Given the description of an element on the screen output the (x, y) to click on. 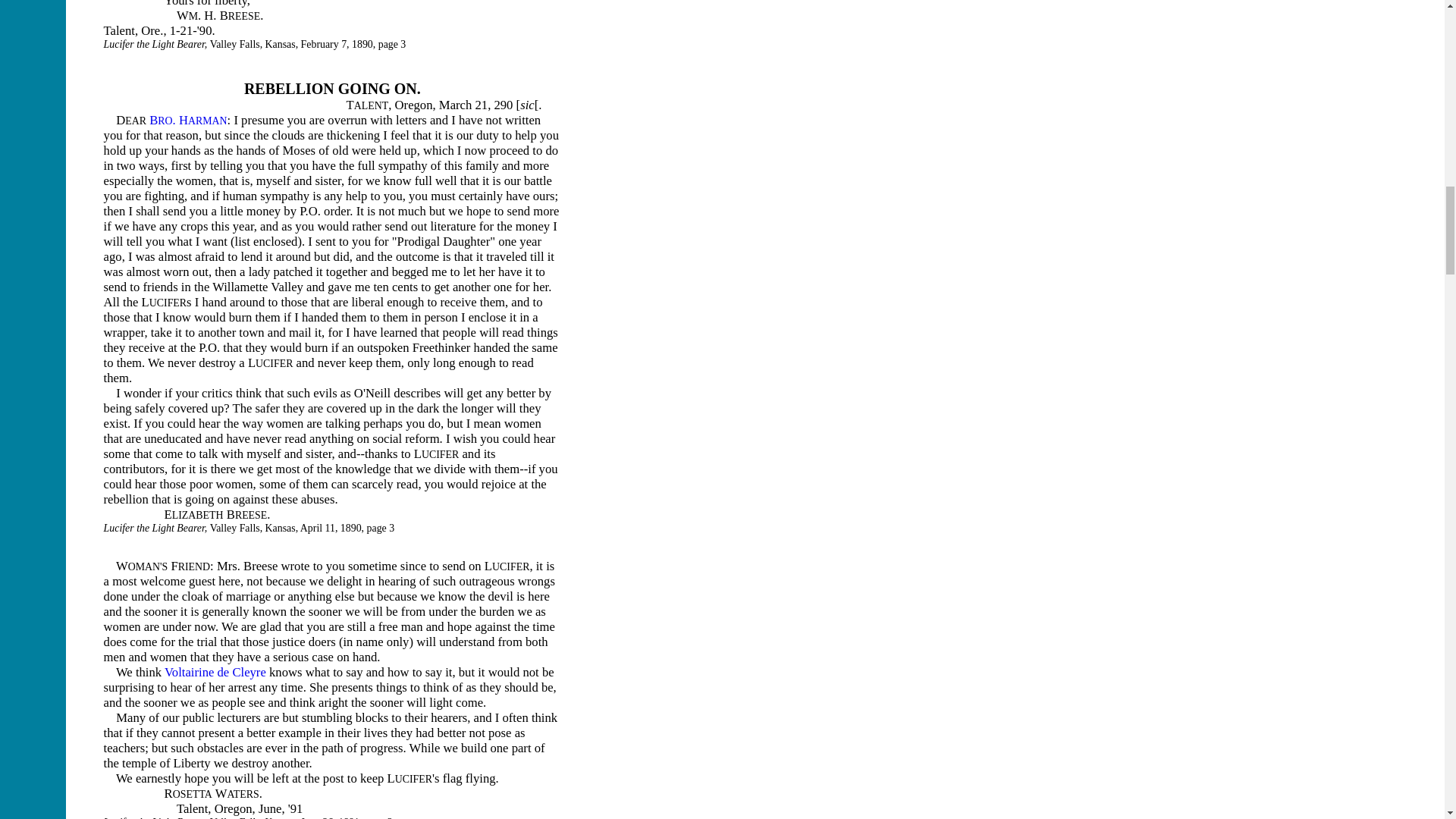
Voltairine de Cleyre (215, 672)
BRO. HARMAN (188, 120)
